Given the description of an element on the screen output the (x, y) to click on. 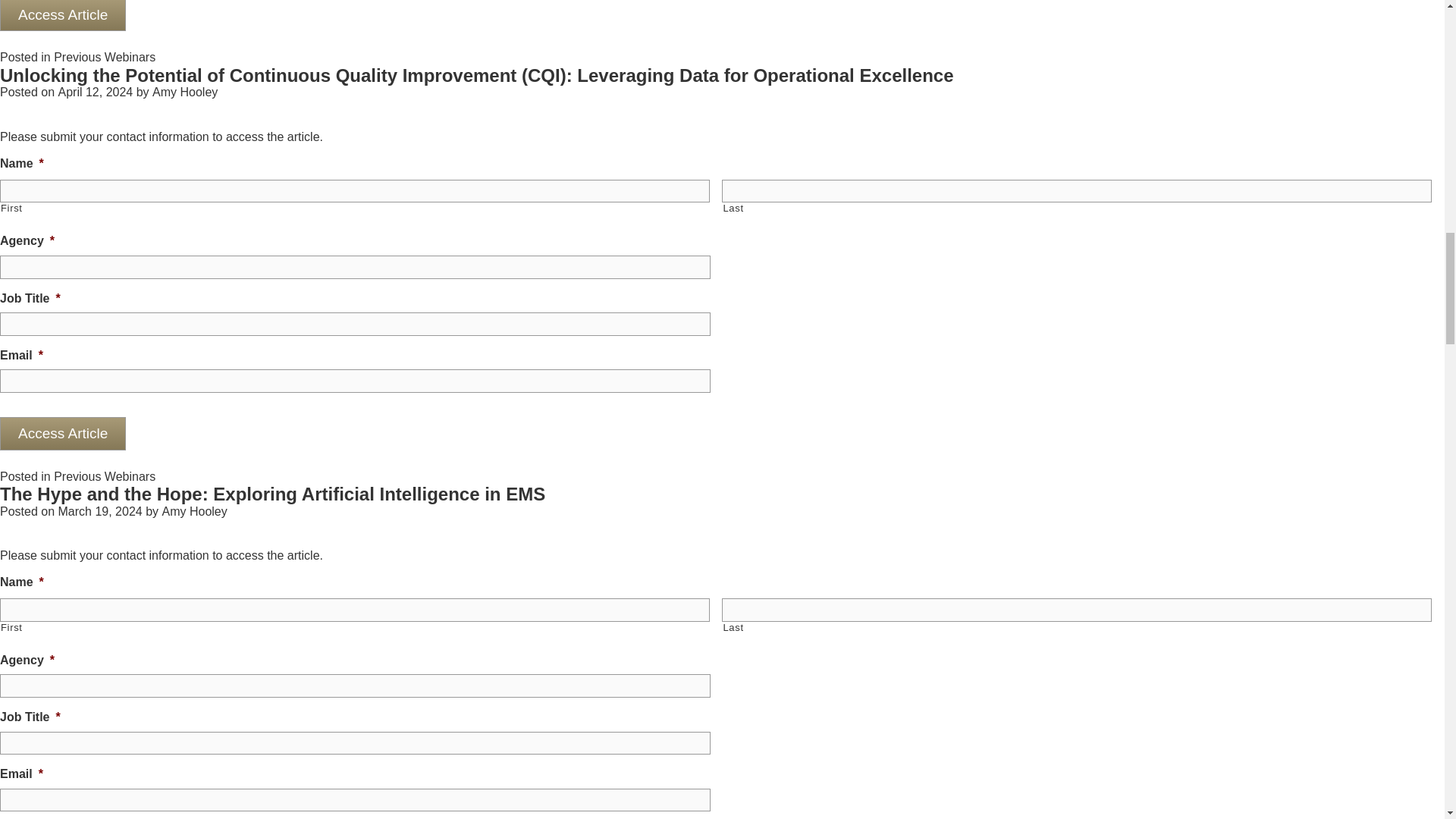
Amy Hooley (184, 91)
Access Article (62, 15)
Access Article (62, 15)
Access Article (62, 433)
March 19, 2024 (99, 511)
Amy Hooley (194, 511)
Previous Webinars (104, 56)
April 12, 2024 (95, 91)
Previous Webinars (104, 476)
